Given the description of an element on the screen output the (x, y) to click on. 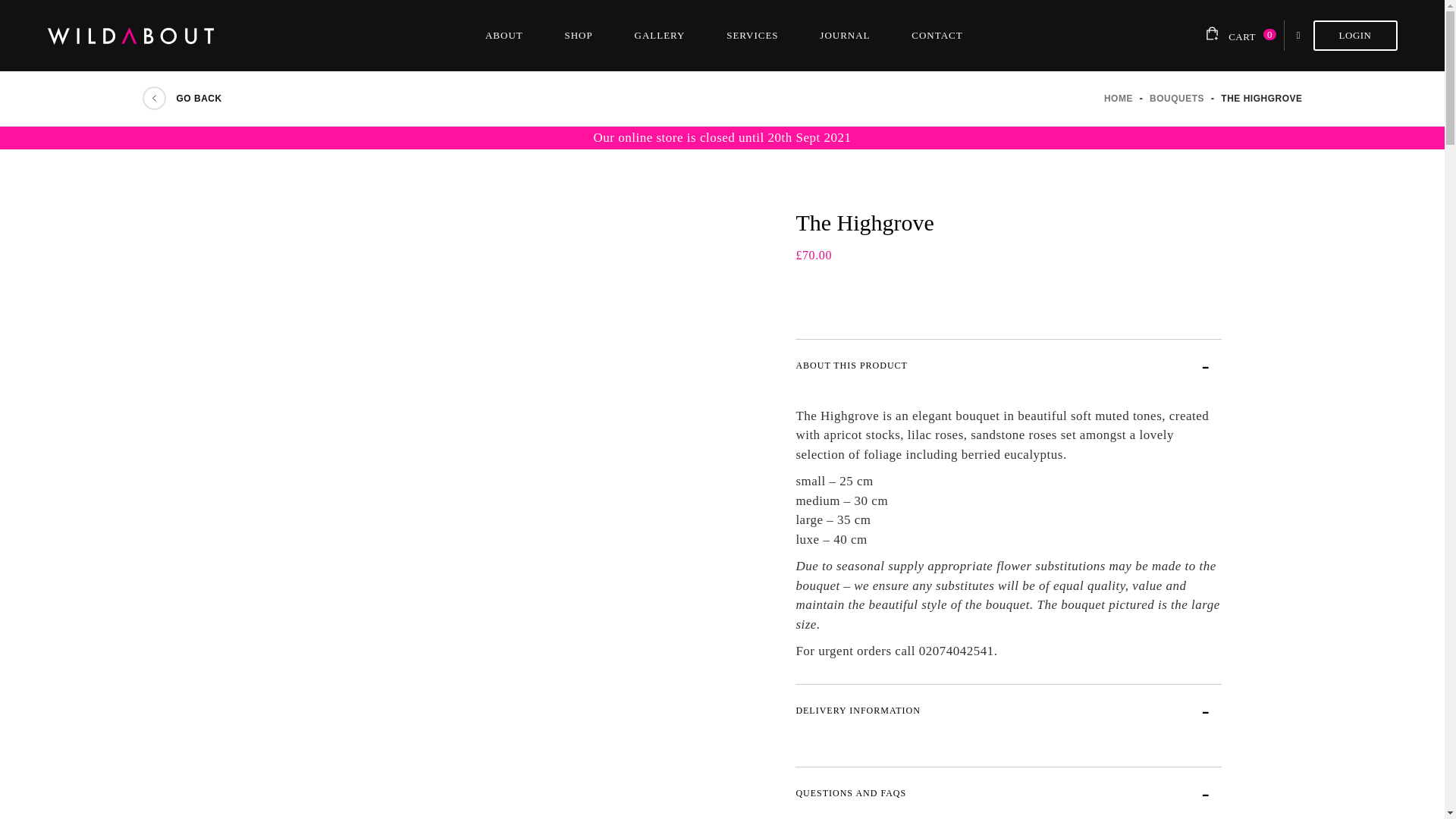
Bouquets (1178, 97)
LOGIN (1355, 35)
Wildabout Flowers (152, 35)
Search (1298, 35)
CART0 (1235, 35)
Wildabout Flowers (1117, 97)
